Given the description of an element on the screen output the (x, y) to click on. 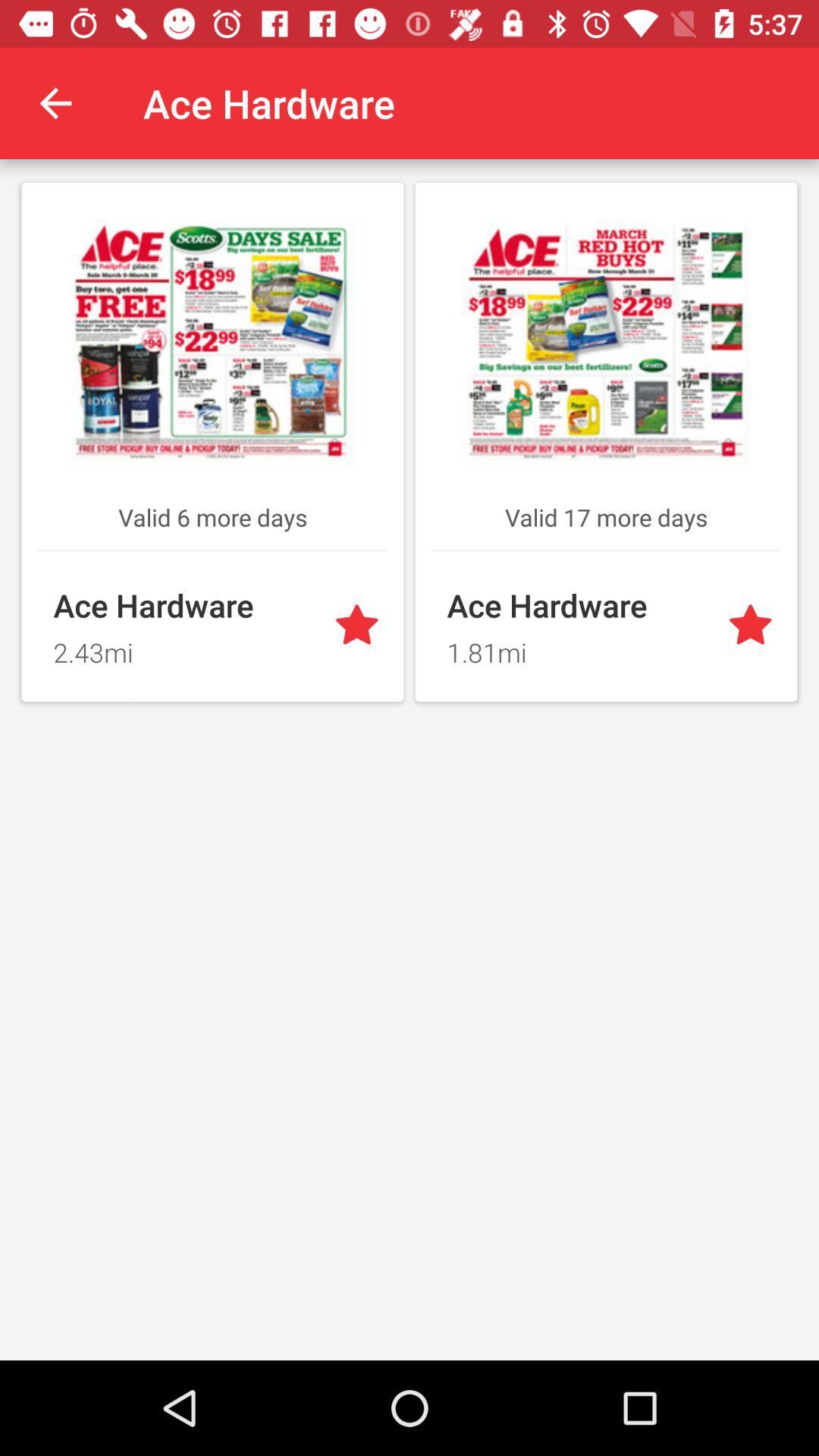
click rating option (359, 626)
